Given the description of an element on the screen output the (x, y) to click on. 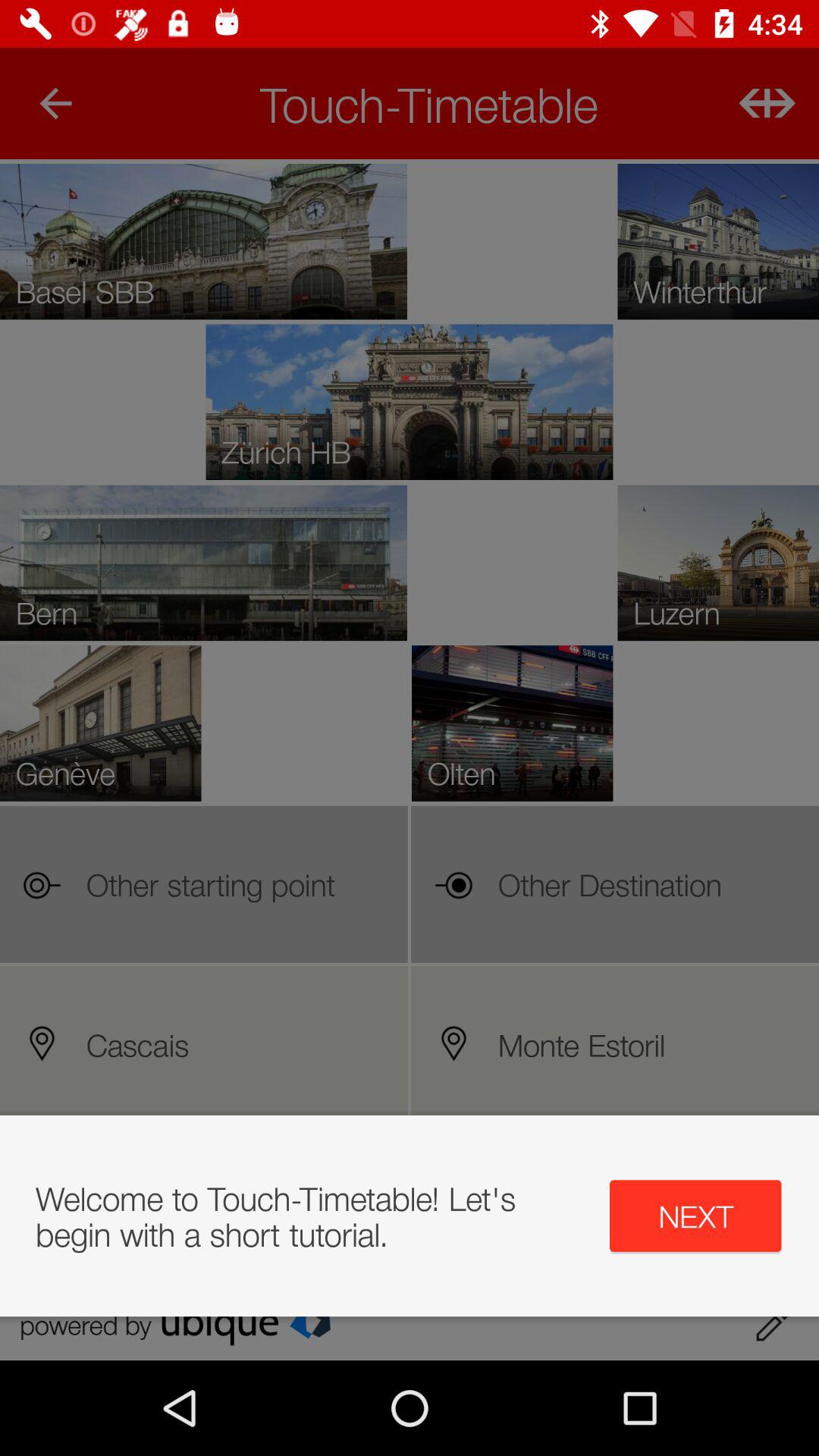
launch next item (695, 1215)
